Given the description of an element on the screen output the (x, y) to click on. 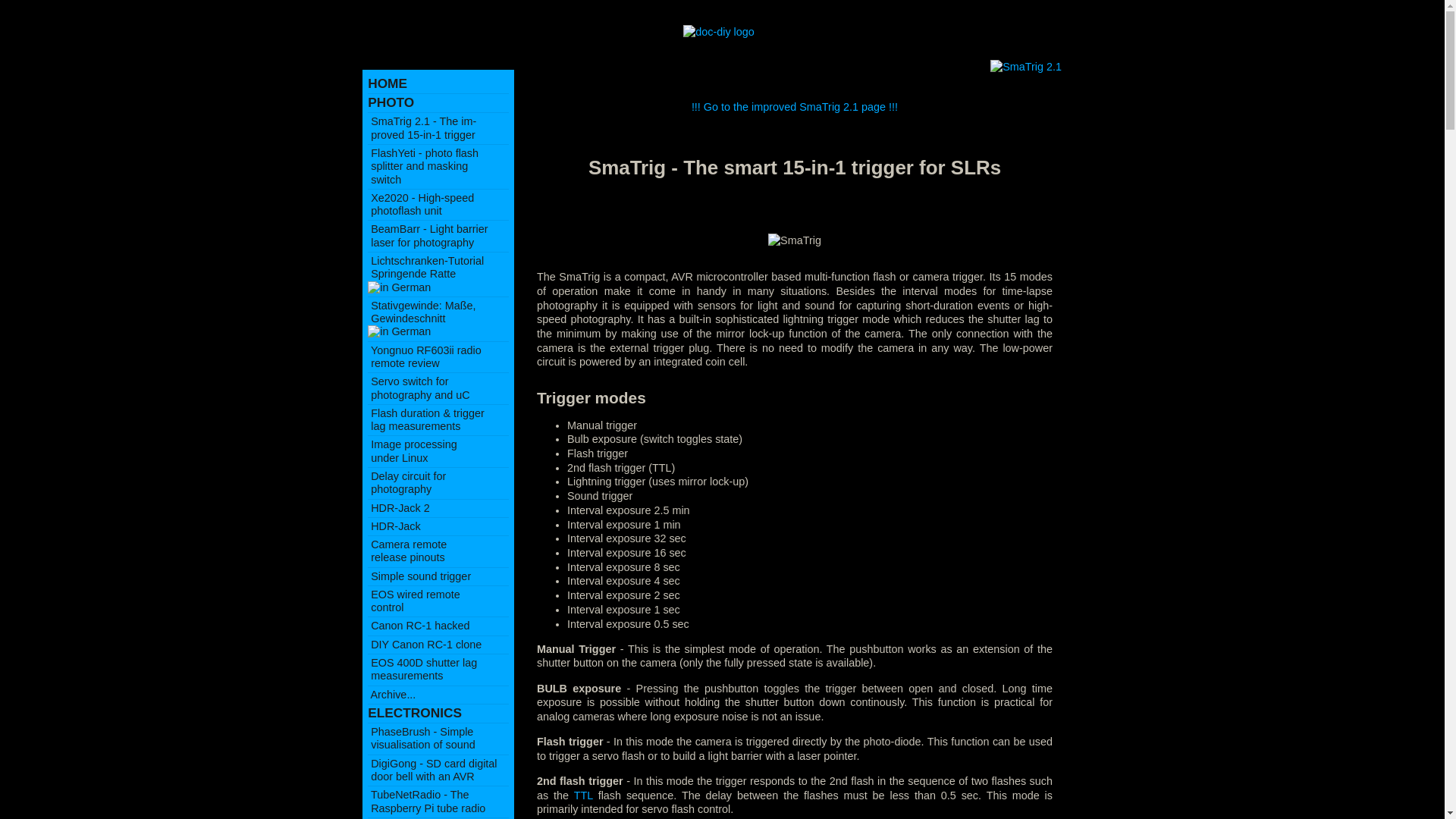
 HDR-Jack (394, 526)
HDR-Jack - The improved HDR and interval trigger (421, 204)
HOME (422, 668)
 Simple sound trigger (398, 508)
Canon RC-1 IR camera remote control hacked (387, 83)
 Canon RC-1 hacked (419, 576)
